Given the description of an element on the screen output the (x, y) to click on. 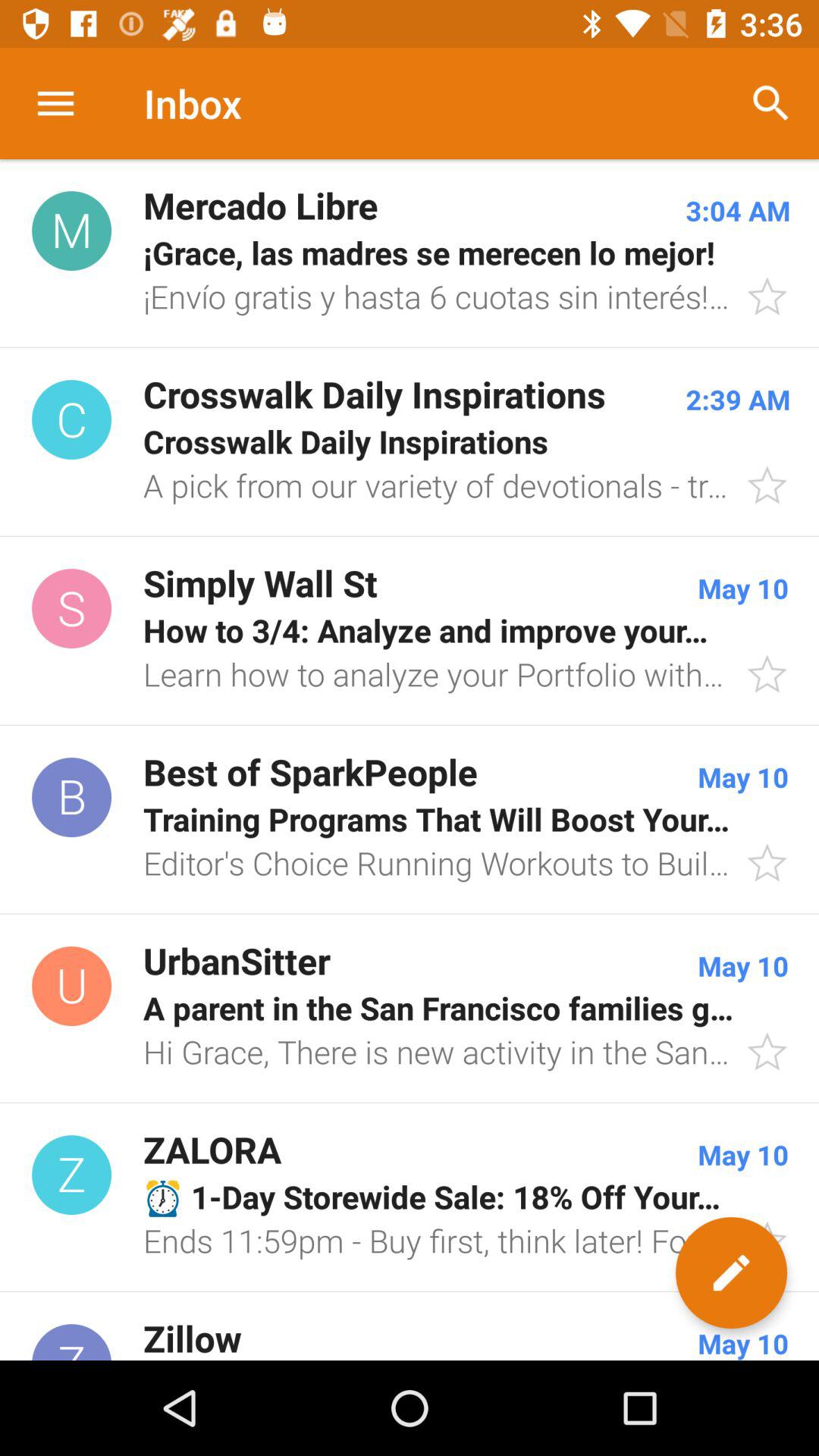
launch the item at the top right corner (771, 103)
